Given the description of an element on the screen output the (x, y) to click on. 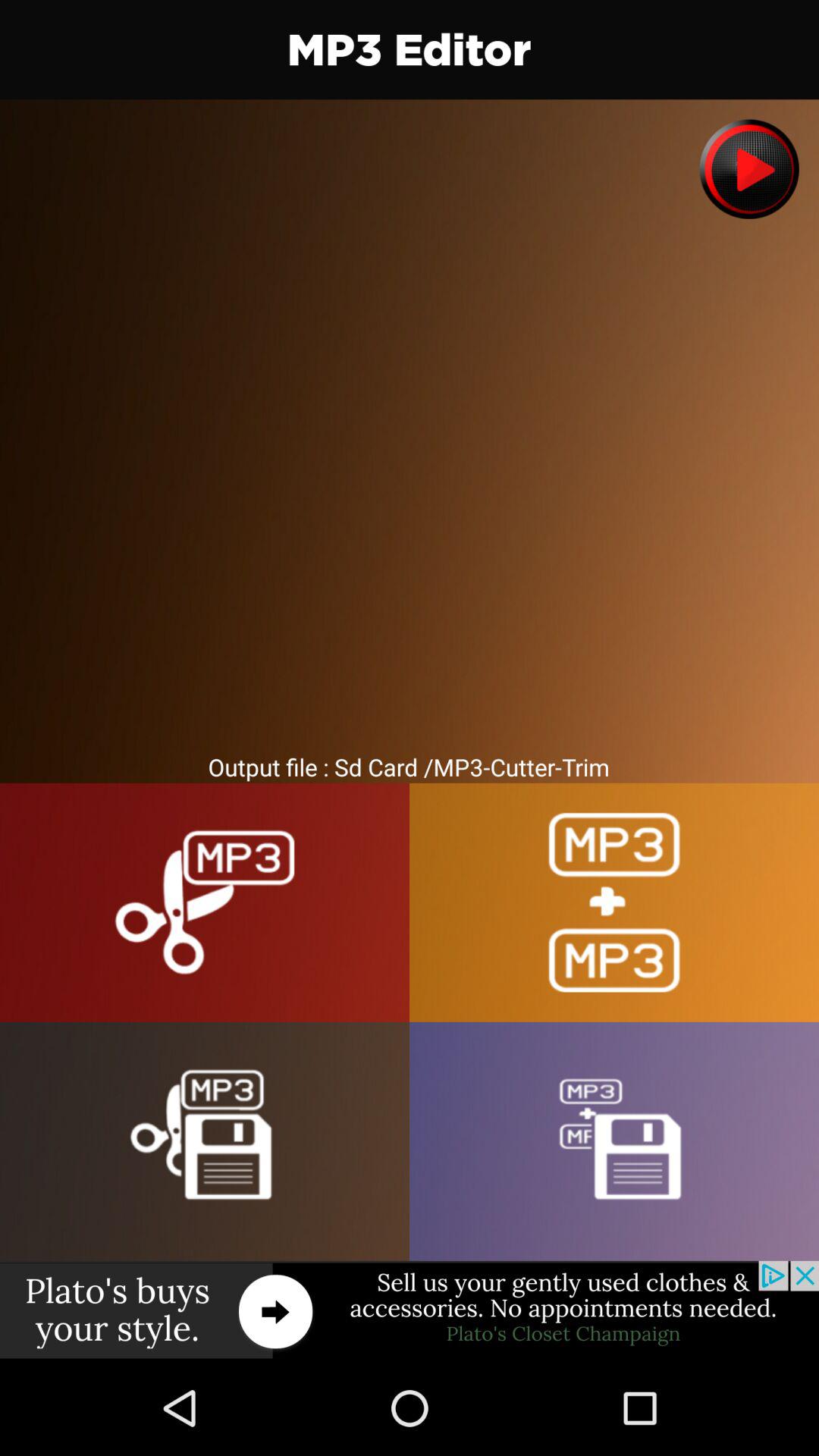
to join mp3 files (614, 902)
